Given the description of an element on the screen output the (x, y) to click on. 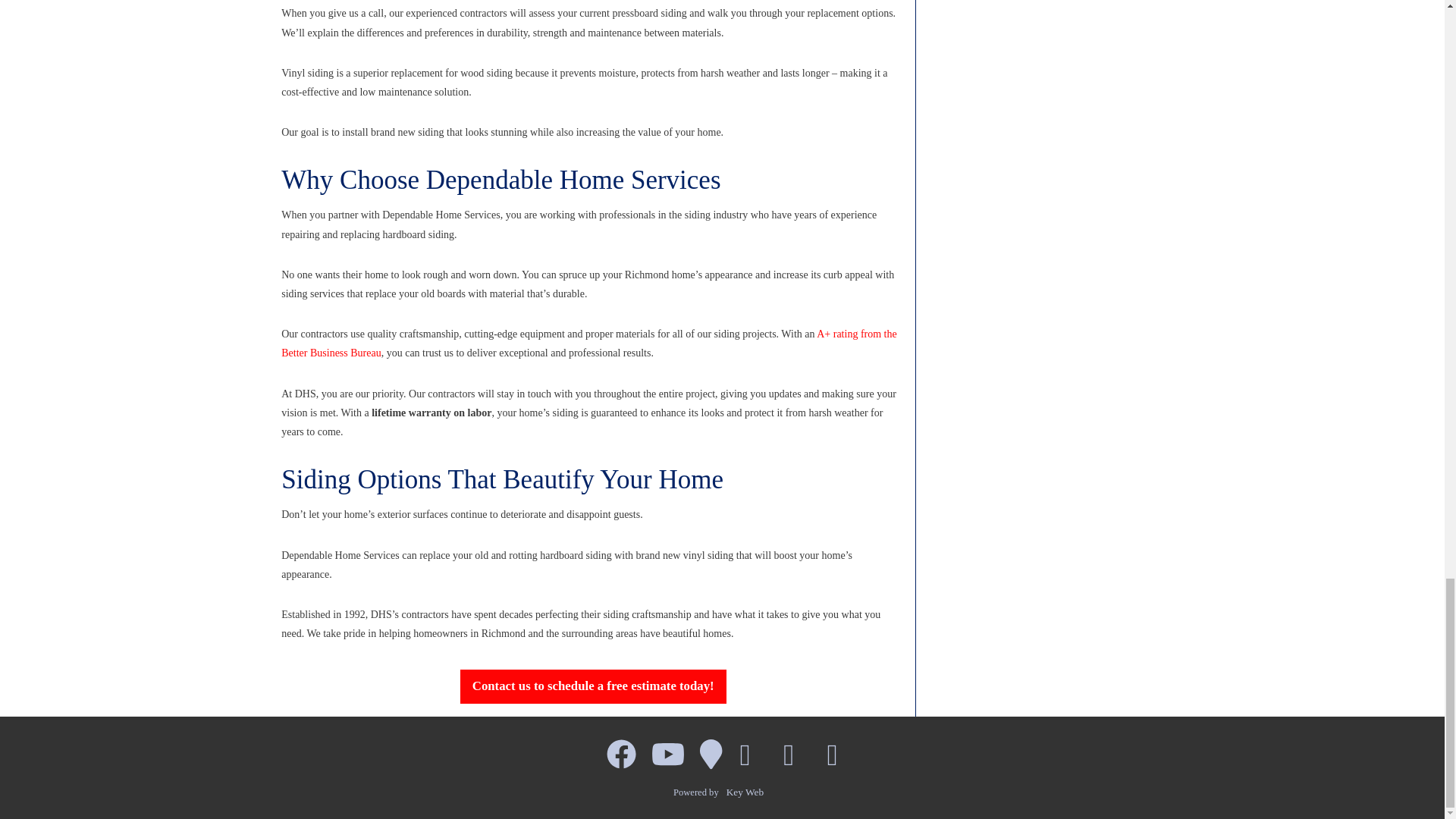
Contact us to schedule a free estimate today! (593, 685)
YouTube (668, 754)
Facebook (620, 754)
